Given the description of an element on the screen output the (x, y) to click on. 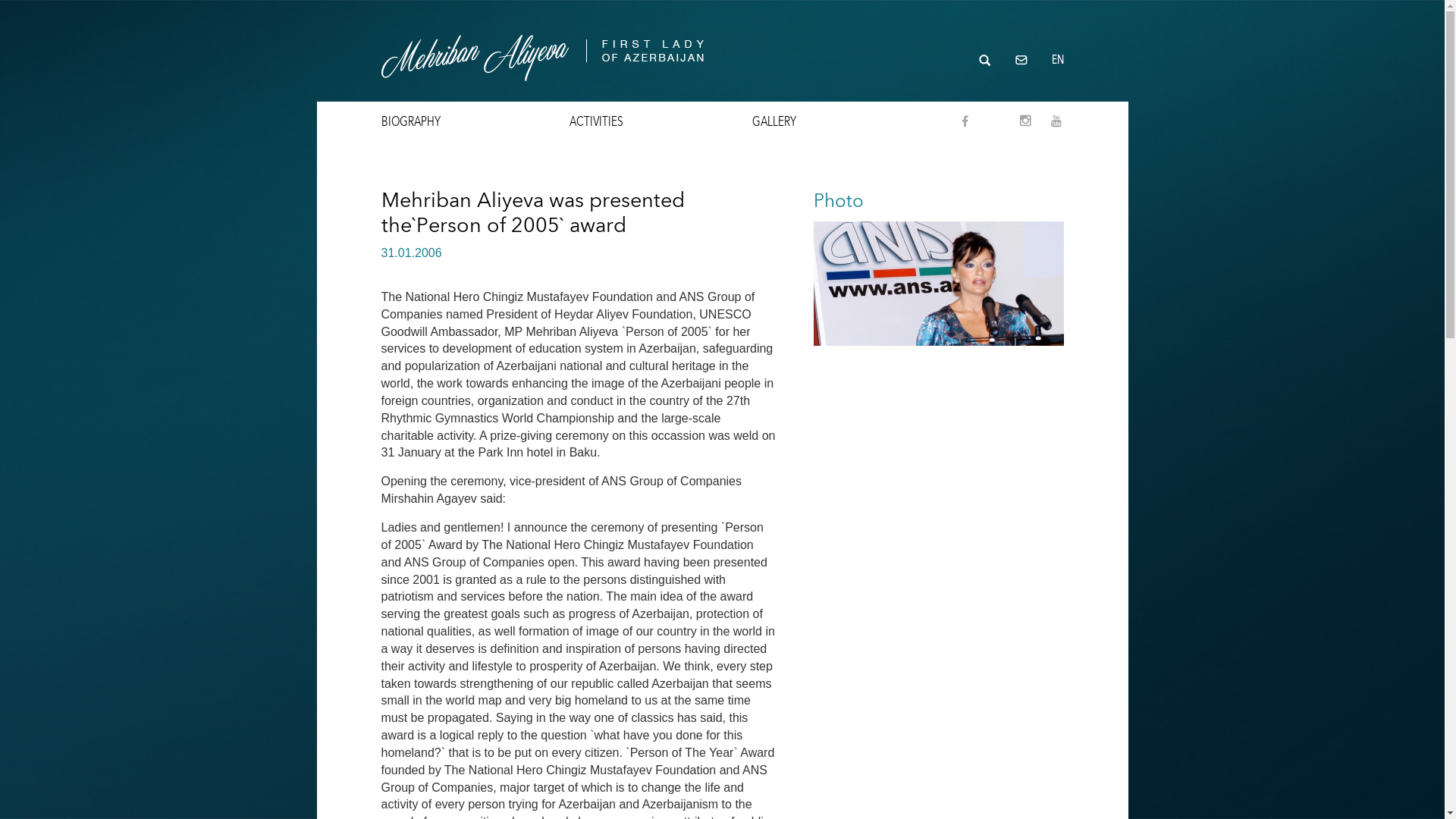
GALLERY Element type: text (773, 121)
First Lady Element type: hover (541, 50)
ACTIVITIES Element type: text (596, 121)
BIOGRAPHY Element type: text (410, 121)
Photo Element type: text (837, 200)
